Given the description of an element on the screen output the (x, y) to click on. 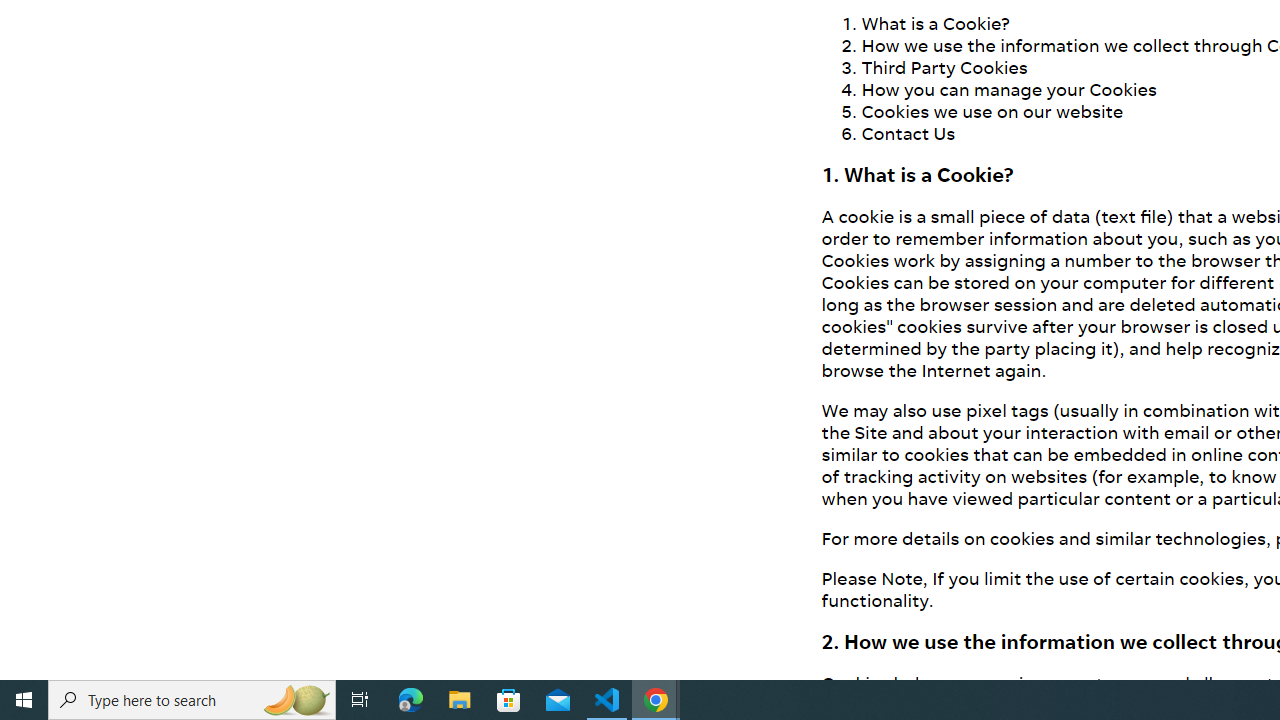
Contact Us (908, 132)
What is a Cookie? (935, 22)
Third Party Cookies (944, 66)
How you can manage your Cookies (1009, 88)
Cookies we use on our website (992, 110)
